Given the description of an element on the screen output the (x, y) to click on. 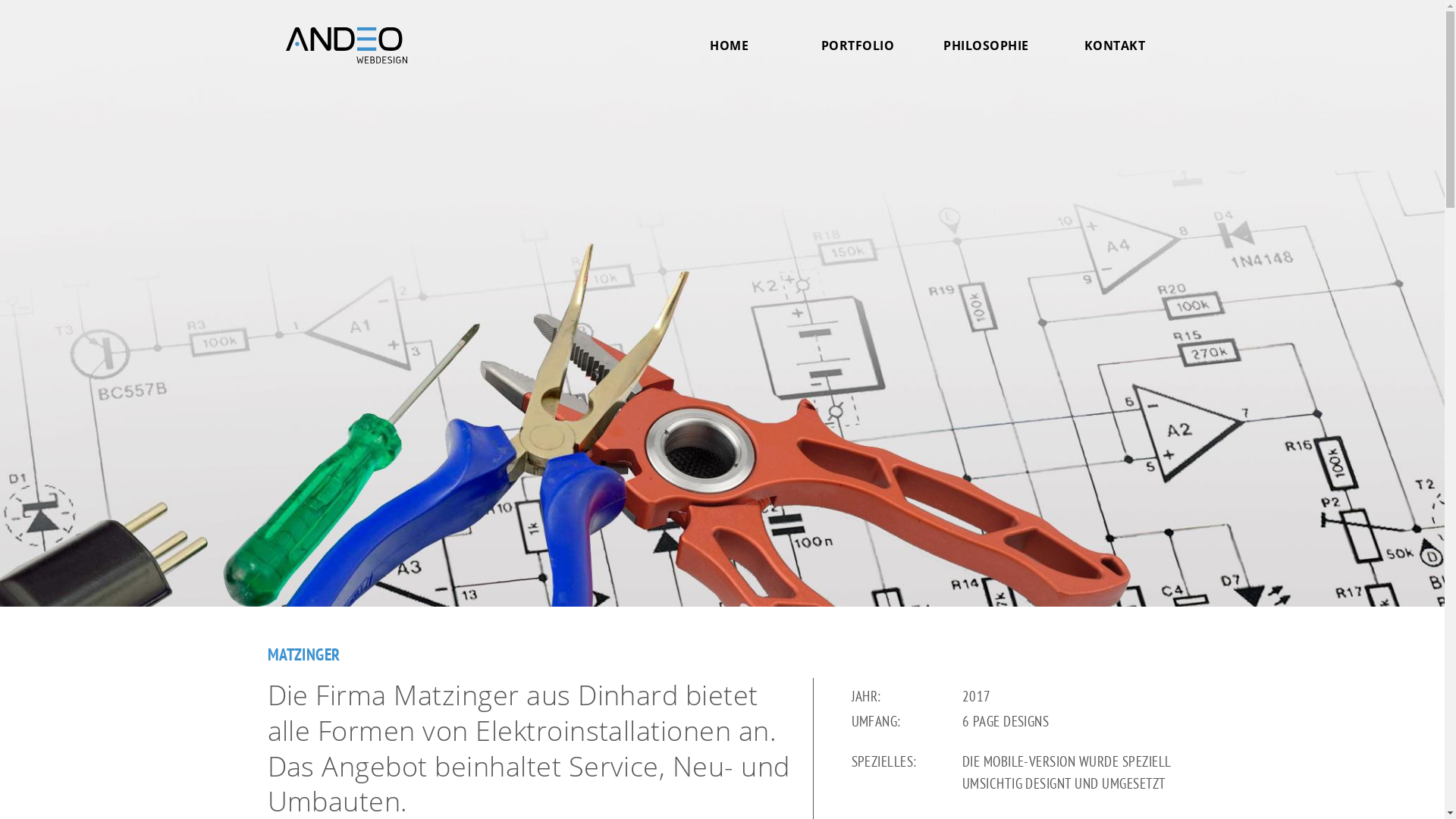
HOME Element type: text (728, 43)
KONTAKT Element type: text (1114, 43)
Home Element type: hover (345, 45)
Skip to main navigation Element type: text (0, 1)
PHILOSOPHIE Element type: text (985, 43)
PORTFOLIO Element type: text (857, 43)
